Given the description of an element on the screen output the (x, y) to click on. 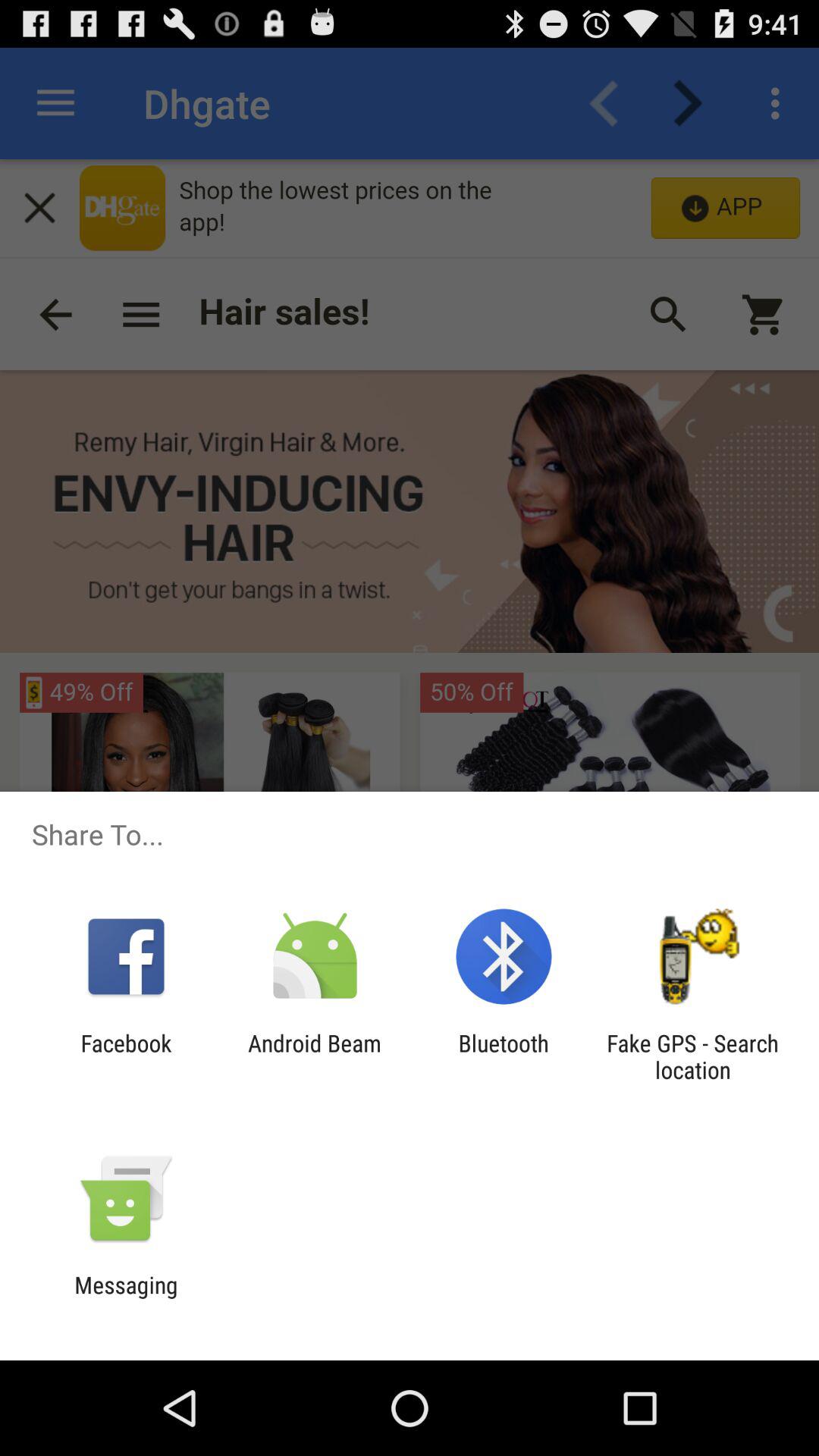
swipe until fake gps search icon (692, 1056)
